Given the description of an element on the screen output the (x, y) to click on. 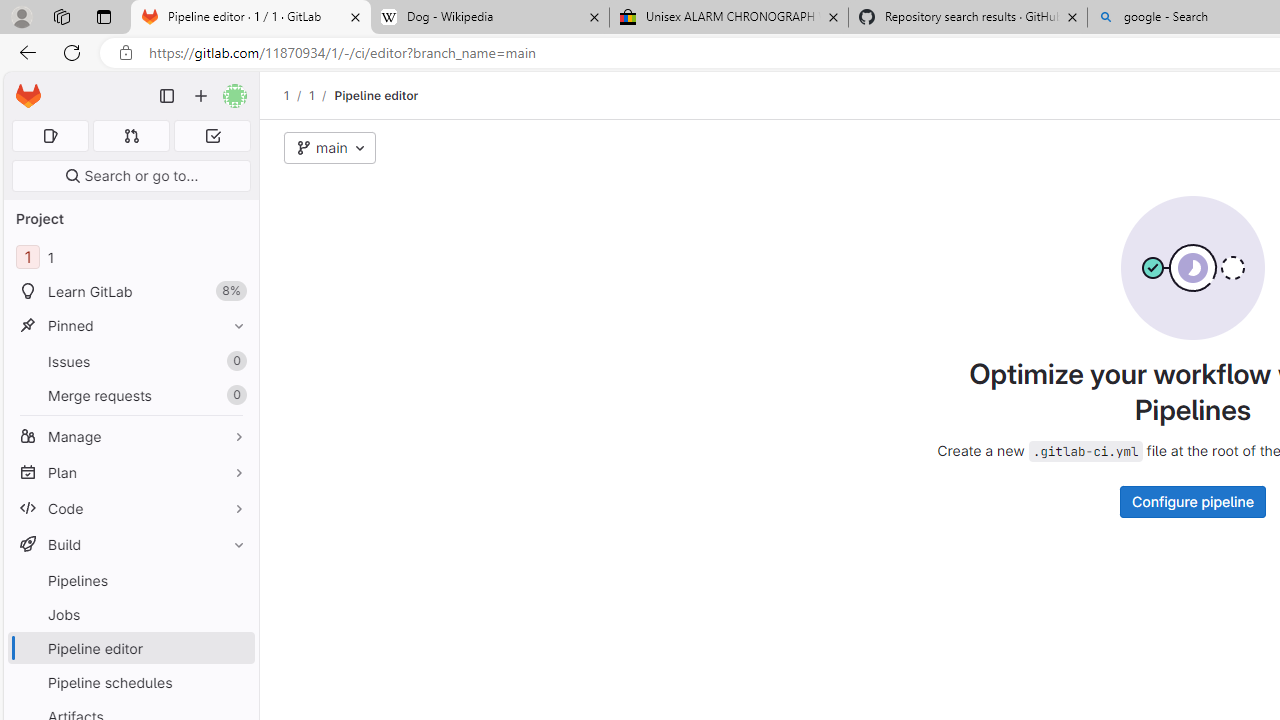
Jobs (130, 614)
Pipelines (130, 579)
Code (130, 507)
Pipeline schedules (130, 682)
Dog - Wikipedia (490, 17)
Pin Jobs (234, 614)
Primary navigation sidebar (167, 96)
Issues 0 (130, 361)
